Given the description of an element on the screen output the (x, y) to click on. 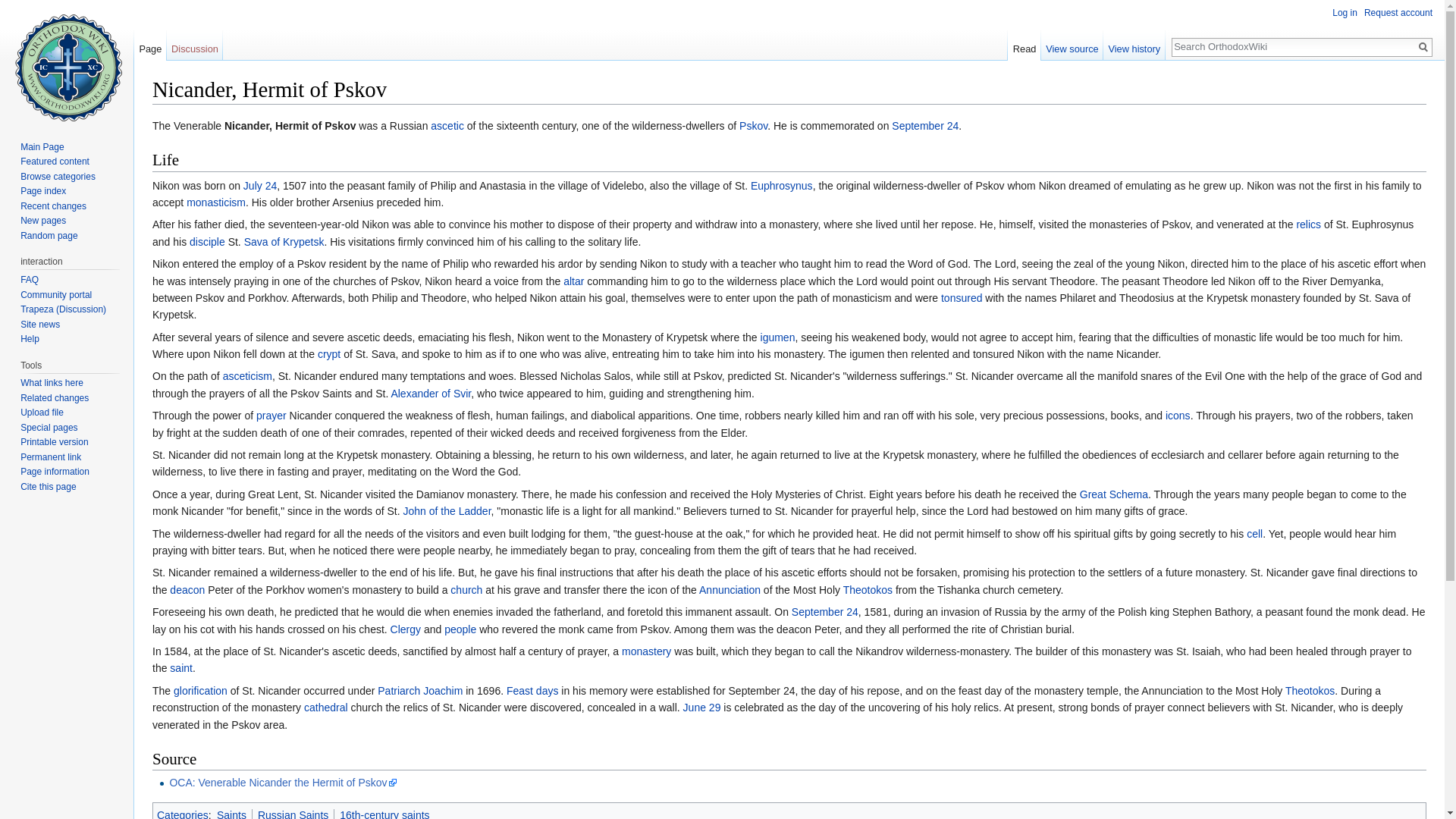
altar (573, 281)
Theotokos (867, 589)
Disciple (207, 241)
ascetic (447, 125)
Joachim (443, 690)
John of the Ladder (447, 510)
glorification (200, 690)
cell (1254, 533)
church (465, 589)
monasticism (216, 202)
